Given the description of an element on the screen output the (x, y) to click on. 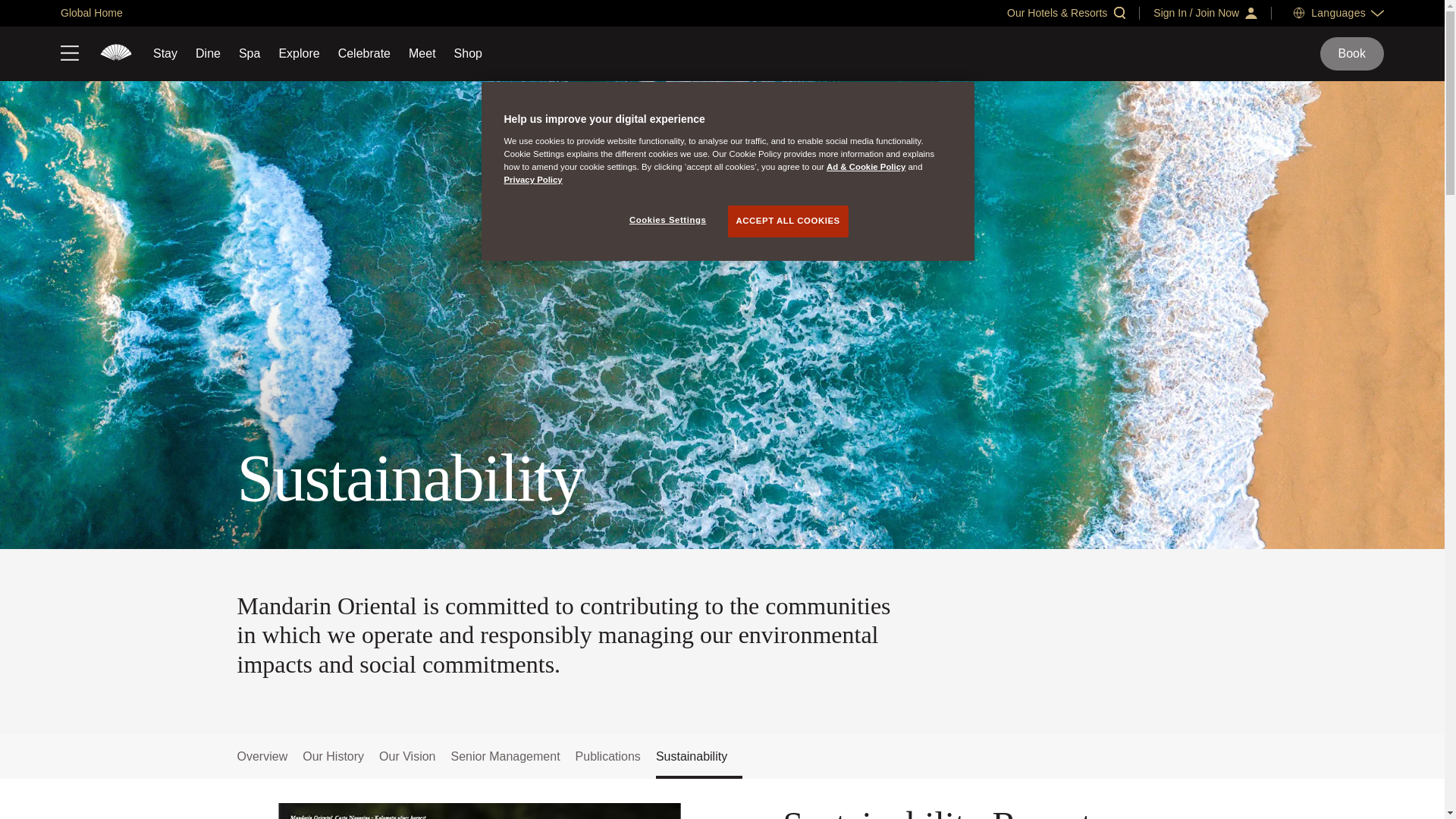
Global Home (91, 12)
Languages (1338, 12)
Spa (249, 52)
Explore (298, 52)
Book (1352, 53)
Dine (208, 52)
Meet (422, 52)
Home (116, 53)
Stay (164, 52)
Shop (467, 52)
